Given the description of an element on the screen output the (x, y) to click on. 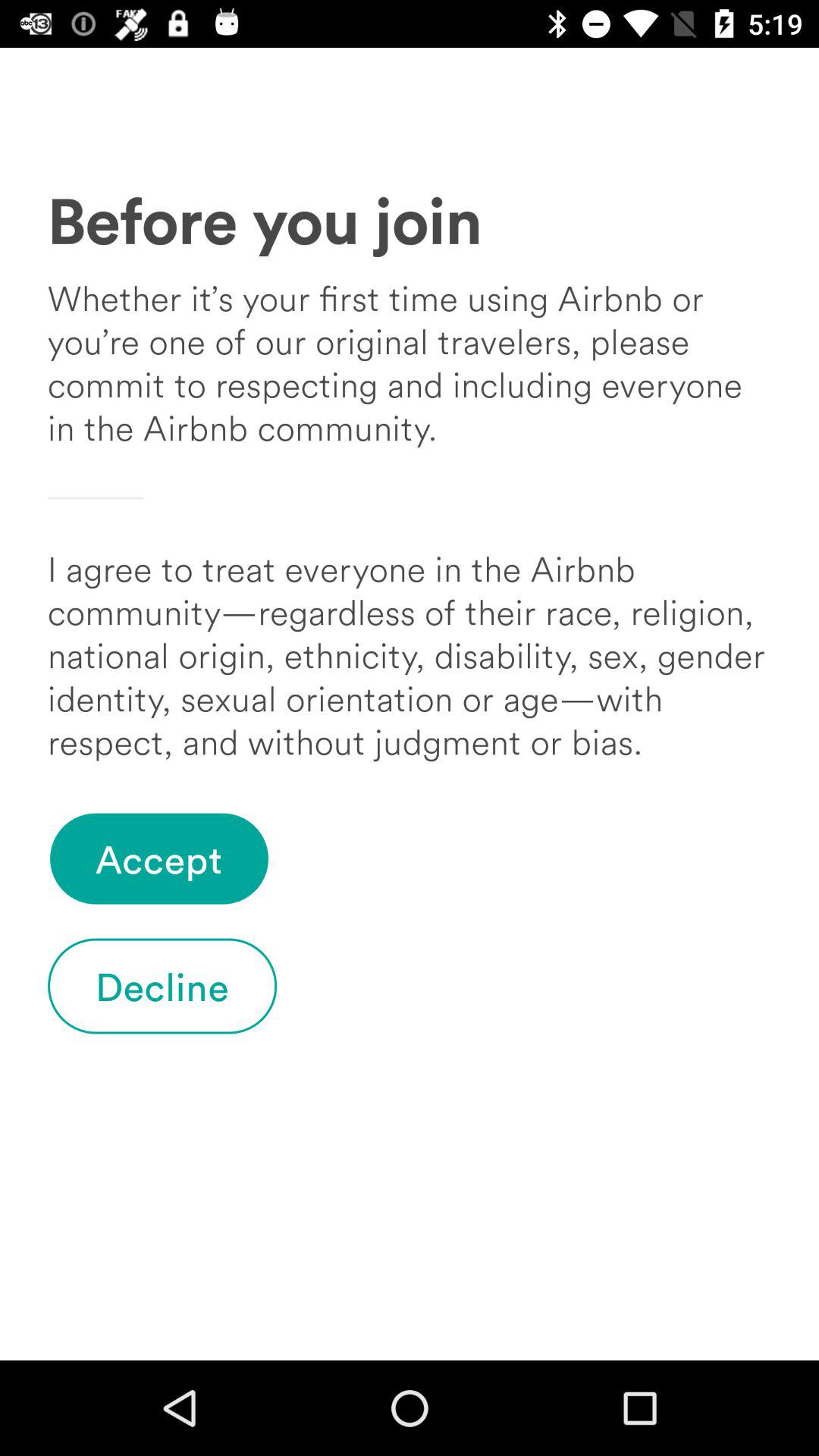
scroll to the decline item (161, 985)
